Given the description of an element on the screen output the (x, y) to click on. 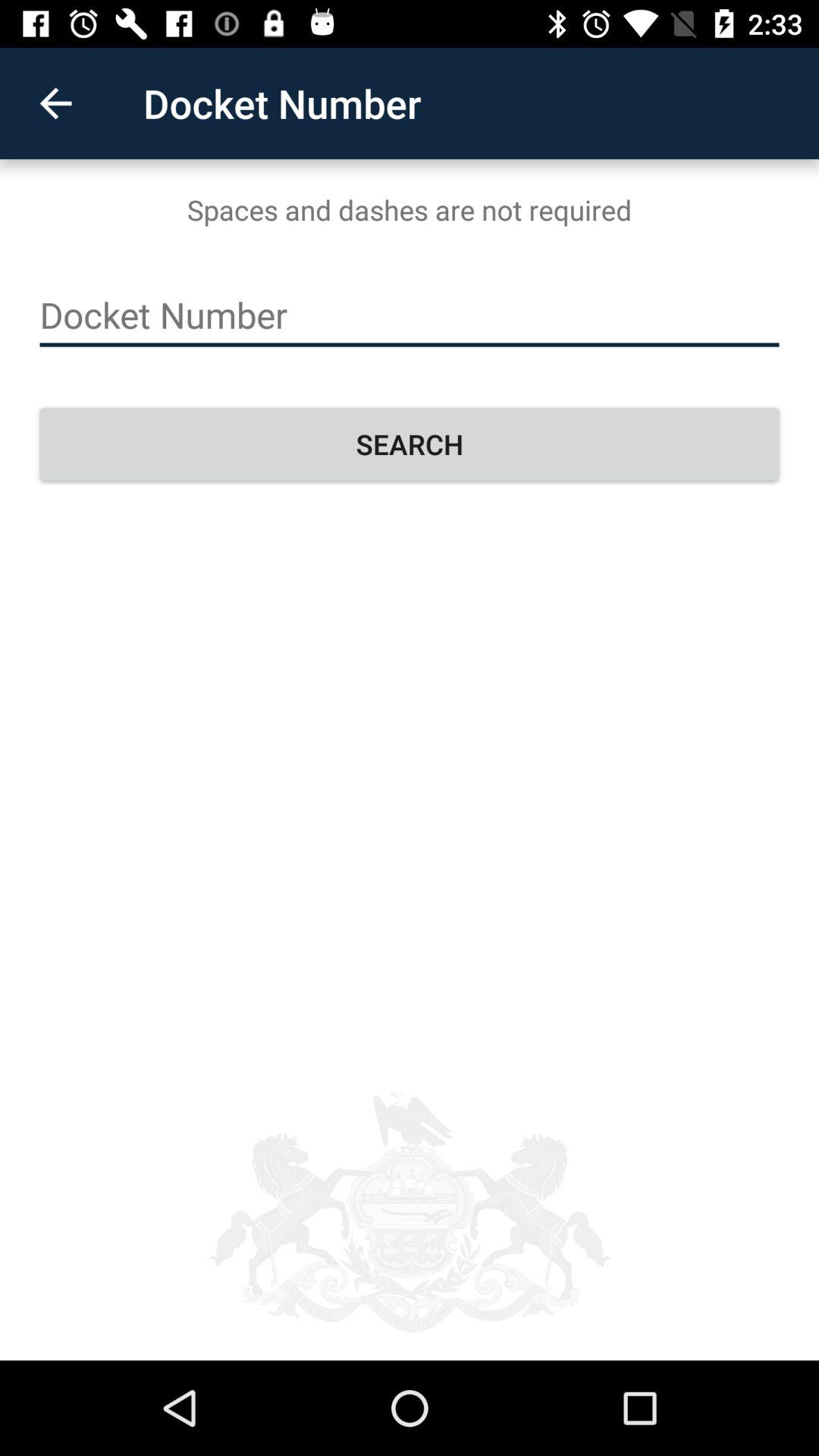
form entry for the docket number (409, 315)
